Given the description of an element on the screen output the (x, y) to click on. 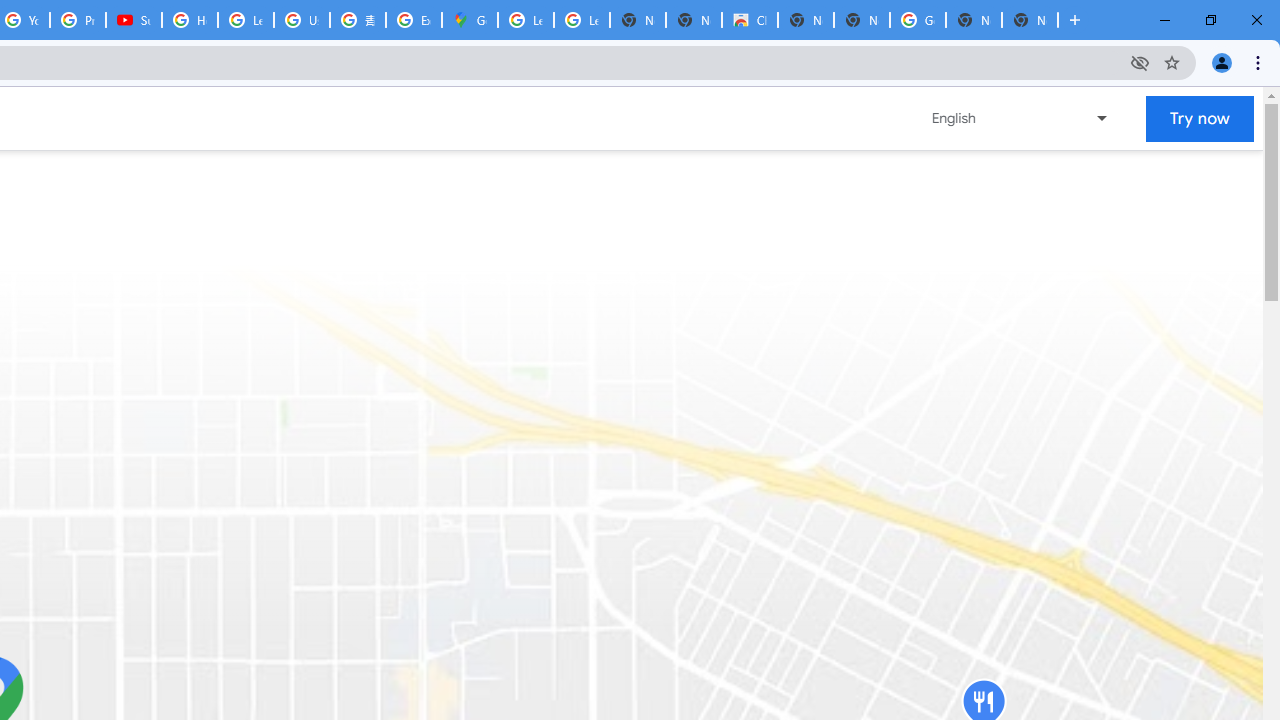
Subscriptions - YouTube (134, 20)
Change language or region (1021, 117)
Google Maps (469, 20)
Try now (1199, 118)
Chrome Web Store (749, 20)
Google Images (917, 20)
